Given the description of an element on the screen output the (x, y) to click on. 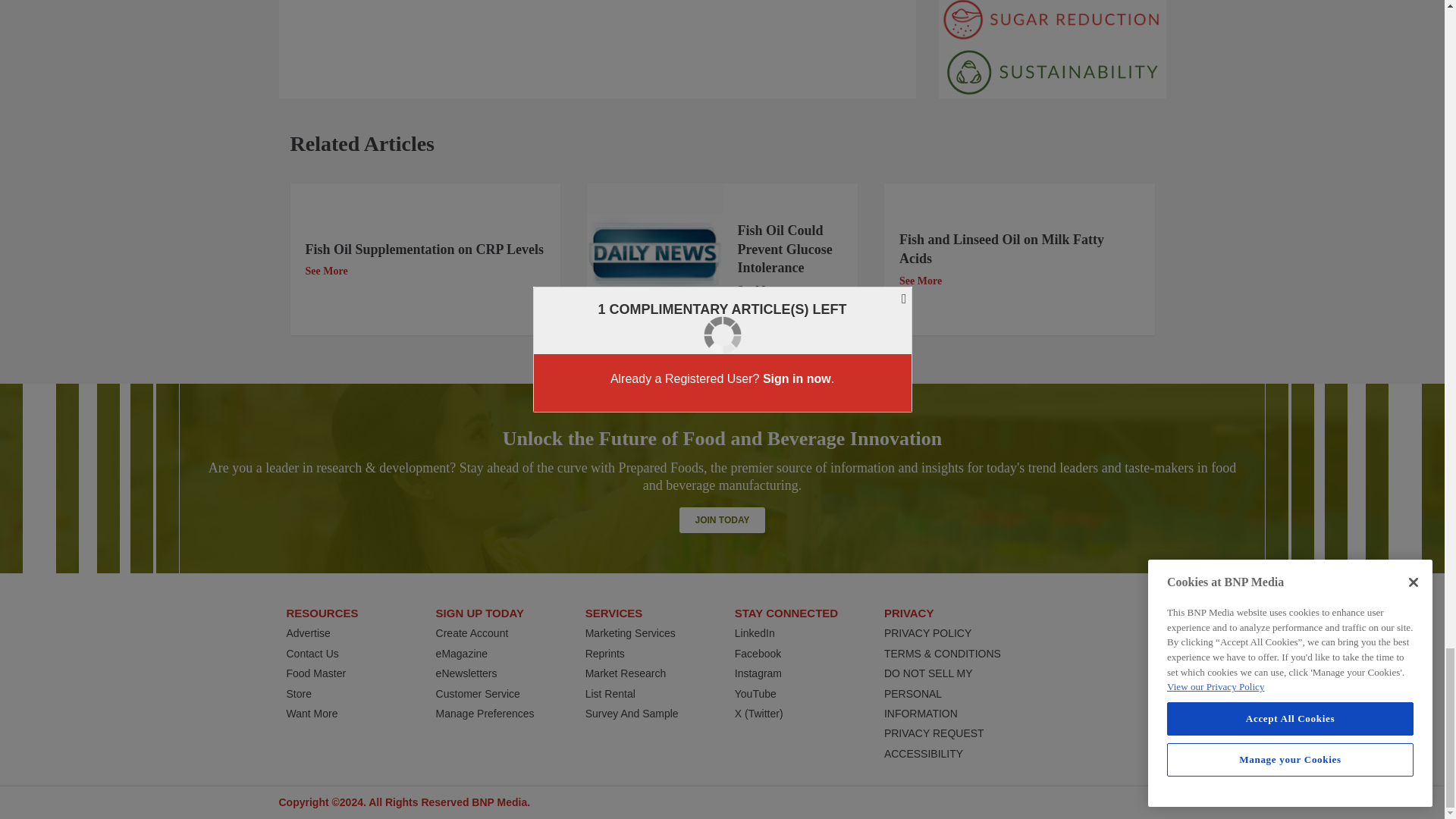
news (654, 259)
